Given the description of an element on the screen output the (x, y) to click on. 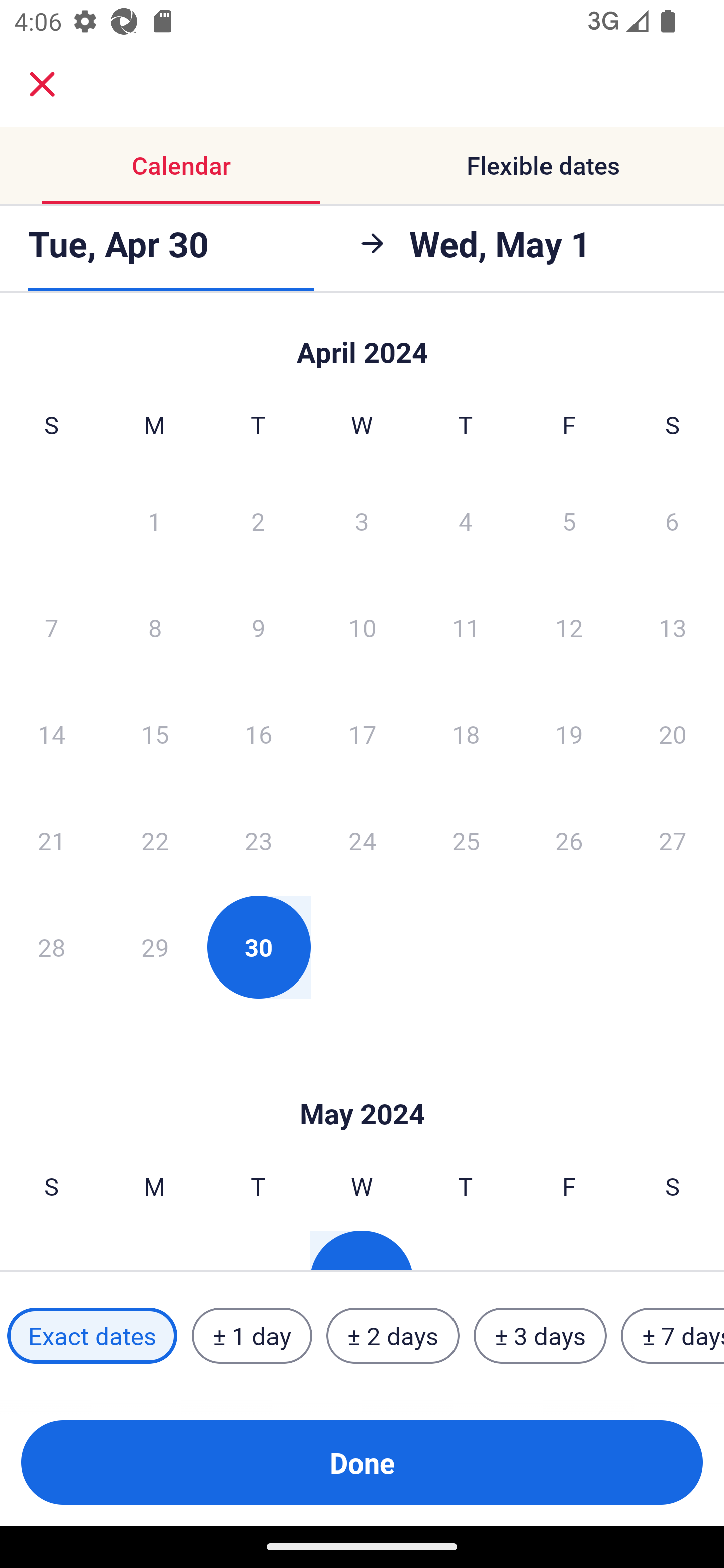
close. (42, 84)
Flexible dates (542, 164)
Skip to Done (362, 343)
1 Monday, April 1, 2024 (154, 520)
2 Tuesday, April 2, 2024 (257, 520)
3 Wednesday, April 3, 2024 (361, 520)
4 Thursday, April 4, 2024 (465, 520)
5 Friday, April 5, 2024 (568, 520)
6 Saturday, April 6, 2024 (672, 520)
7 Sunday, April 7, 2024 (51, 626)
8 Monday, April 8, 2024 (155, 626)
9 Tuesday, April 9, 2024 (258, 626)
10 Wednesday, April 10, 2024 (362, 626)
11 Thursday, April 11, 2024 (465, 626)
12 Friday, April 12, 2024 (569, 626)
13 Saturday, April 13, 2024 (672, 626)
14 Sunday, April 14, 2024 (51, 733)
15 Monday, April 15, 2024 (155, 733)
16 Tuesday, April 16, 2024 (258, 733)
17 Wednesday, April 17, 2024 (362, 733)
18 Thursday, April 18, 2024 (465, 733)
19 Friday, April 19, 2024 (569, 733)
20 Saturday, April 20, 2024 (672, 733)
21 Sunday, April 21, 2024 (51, 840)
22 Monday, April 22, 2024 (155, 840)
23 Tuesday, April 23, 2024 (258, 840)
24 Wednesday, April 24, 2024 (362, 840)
25 Thursday, April 25, 2024 (465, 840)
26 Friday, April 26, 2024 (569, 840)
27 Saturday, April 27, 2024 (672, 840)
28 Sunday, April 28, 2024 (51, 946)
29 Monday, April 29, 2024 (155, 946)
Skip to Done (362, 1083)
Exact dates (92, 1335)
± 1 day (251, 1335)
± 2 days (392, 1335)
± 3 days (539, 1335)
± 7 days (672, 1335)
Done (361, 1462)
